Given the description of an element on the screen output the (x, y) to click on. 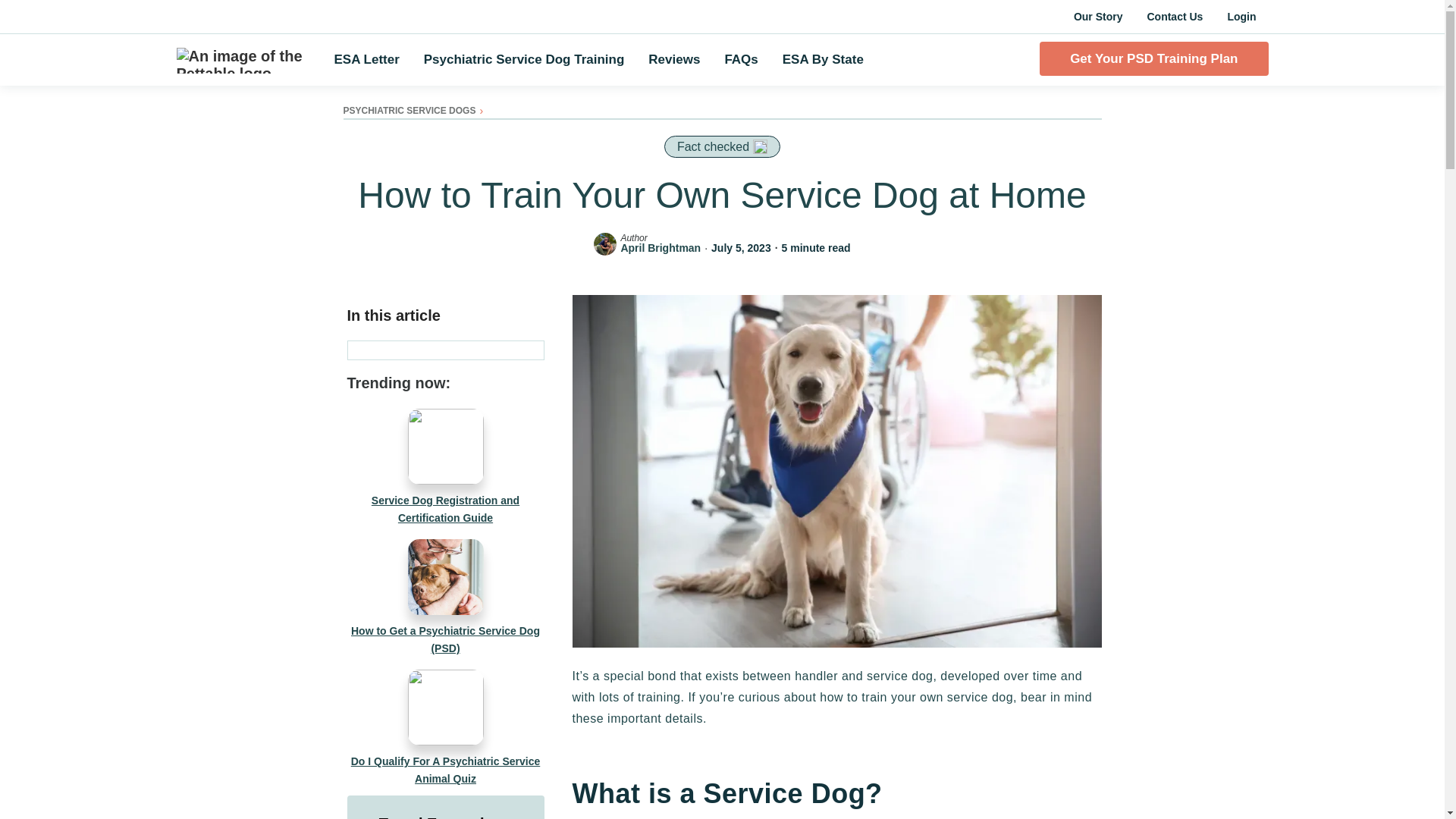
ESA Letter (365, 60)
PSYCHIATRIC SERVICE DOGS (409, 110)
Psychiatric Service Dog Training (524, 60)
Contact Us (1174, 16)
April Brightman (660, 247)
Login (1241, 16)
ESA By State (823, 60)
Do I Qualify For A Psychiatric Service Animal Quiz (445, 728)
Reviews (673, 60)
Our Story (1098, 16)
